Given the description of an element on the screen output the (x, y) to click on. 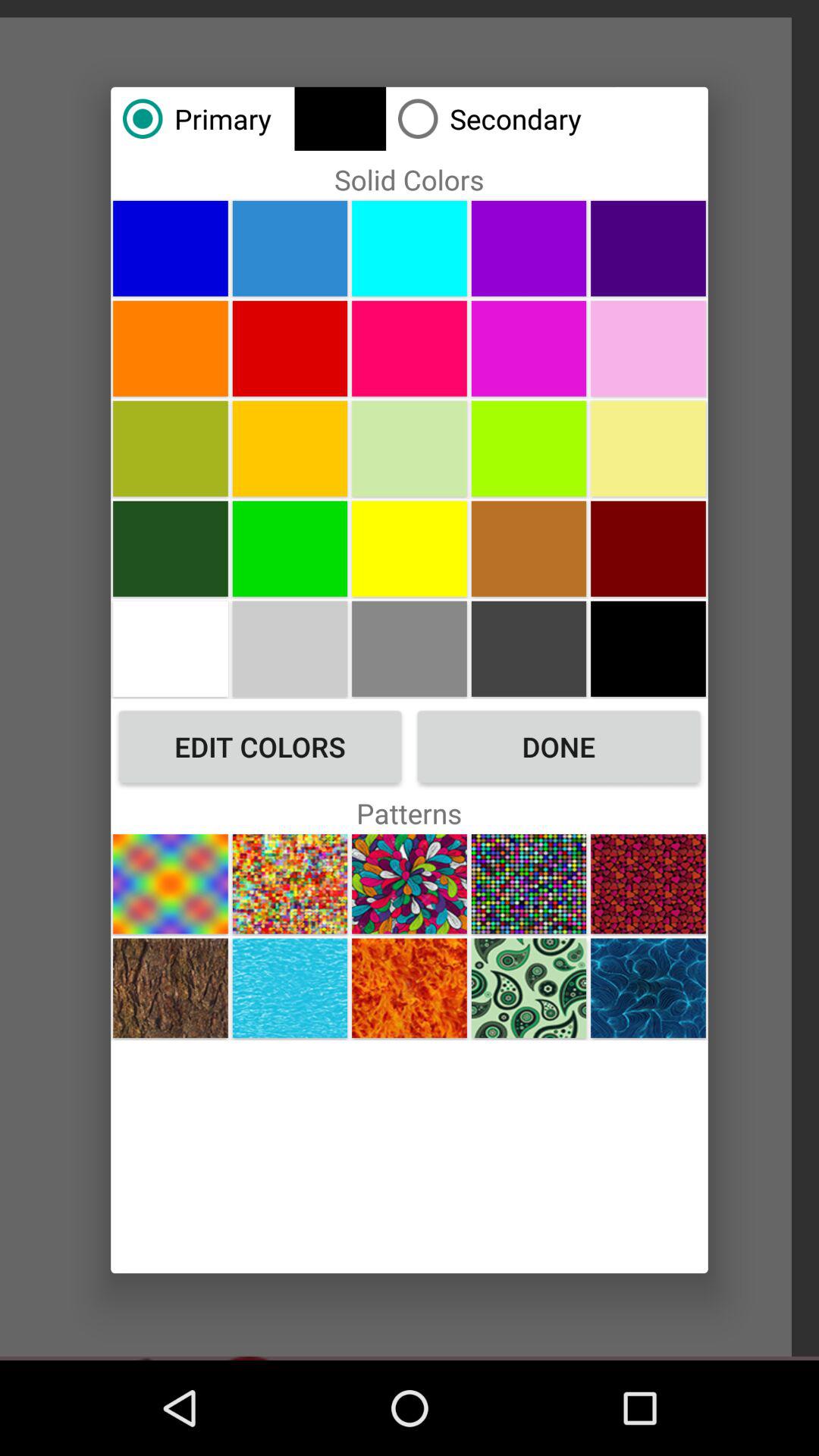
scroll to the done button (558, 746)
